Given the description of an element on the screen output the (x, y) to click on. 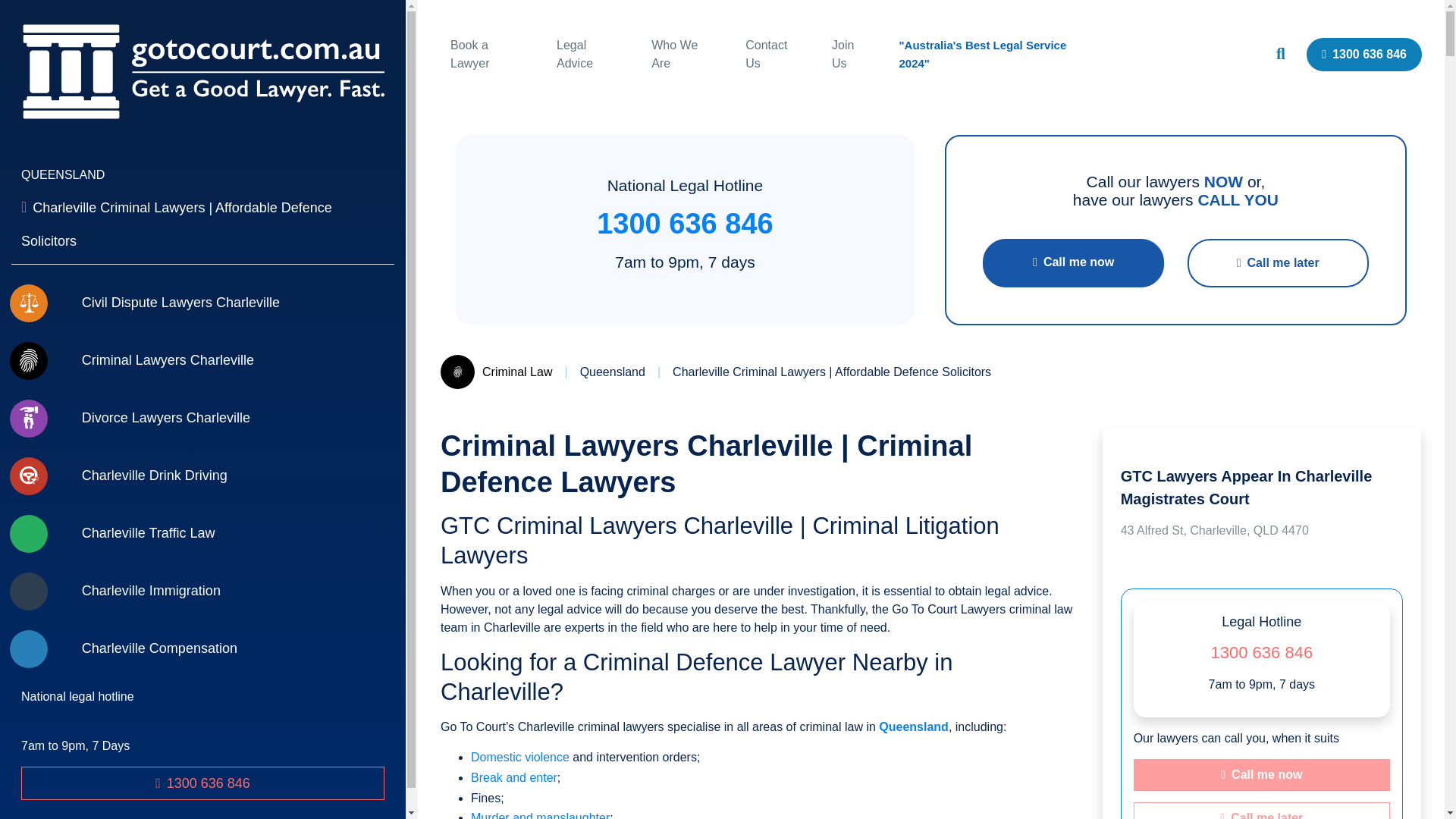
Book a Lawyer (469, 53)
1300 636 846 (202, 783)
Civil Dispute Lawyers Charleville (202, 303)
Contact Us (766, 53)
Criminal Lawyers Charleville (202, 361)
immigration (202, 591)
Charleville Traffic Law (202, 533)
Charleville Drink Driving (202, 476)
compensation (202, 648)
traffic-law (202, 533)
Divorce Lawyers Charleville (202, 418)
Charleville Compensation (202, 648)
Charleville Immigration (202, 591)
1300 636 846 (1364, 54)
Legal Advice (574, 53)
